Given the description of an element on the screen output the (x, y) to click on. 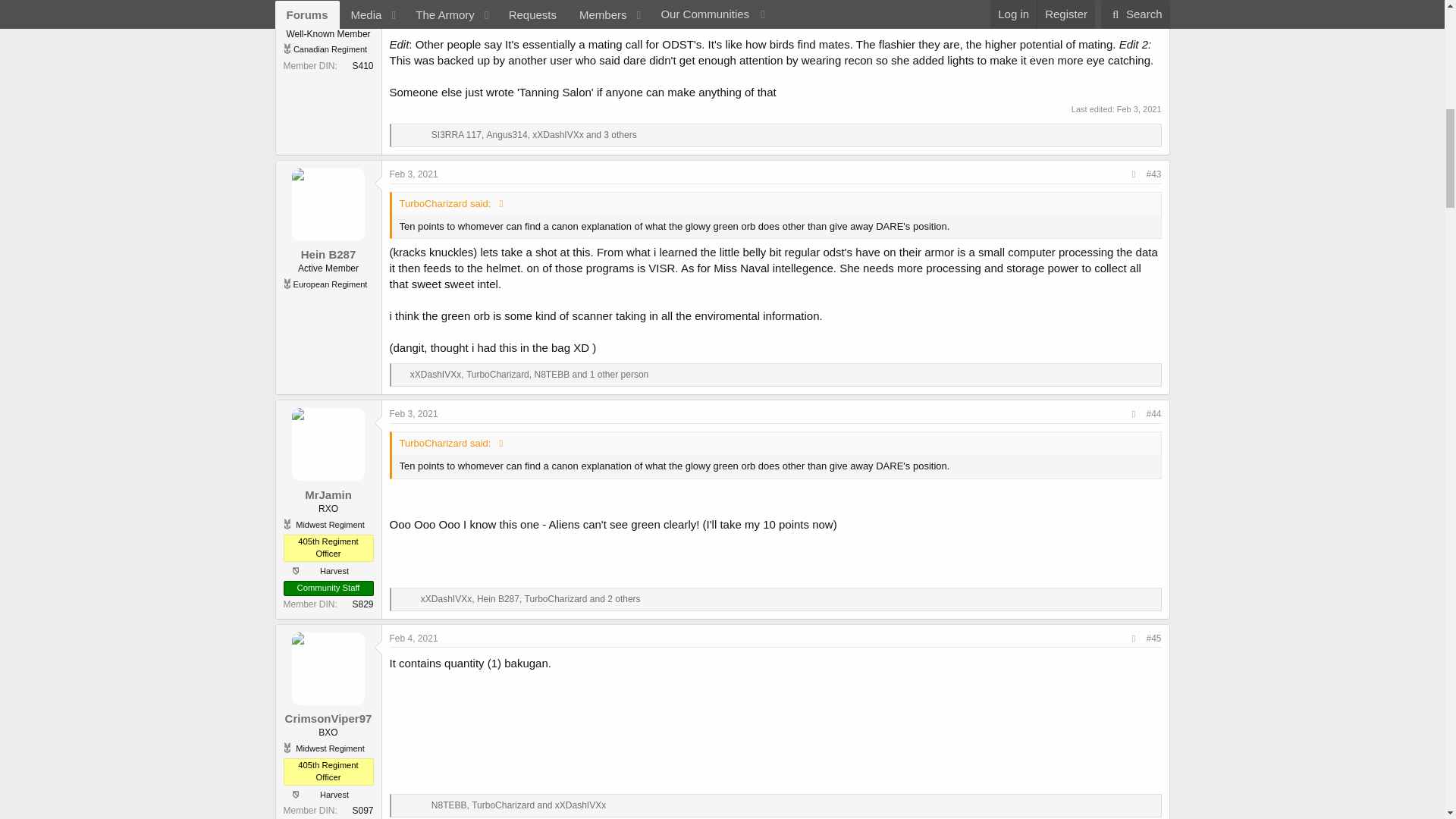
8FF2EEC0-4430-4342-B4EA-0FCD689AD100.jpeg (525, 2)
Feb 3, 2021 at 7:06 AM (1138, 108)
